Given the description of an element on the screen output the (x, y) to click on. 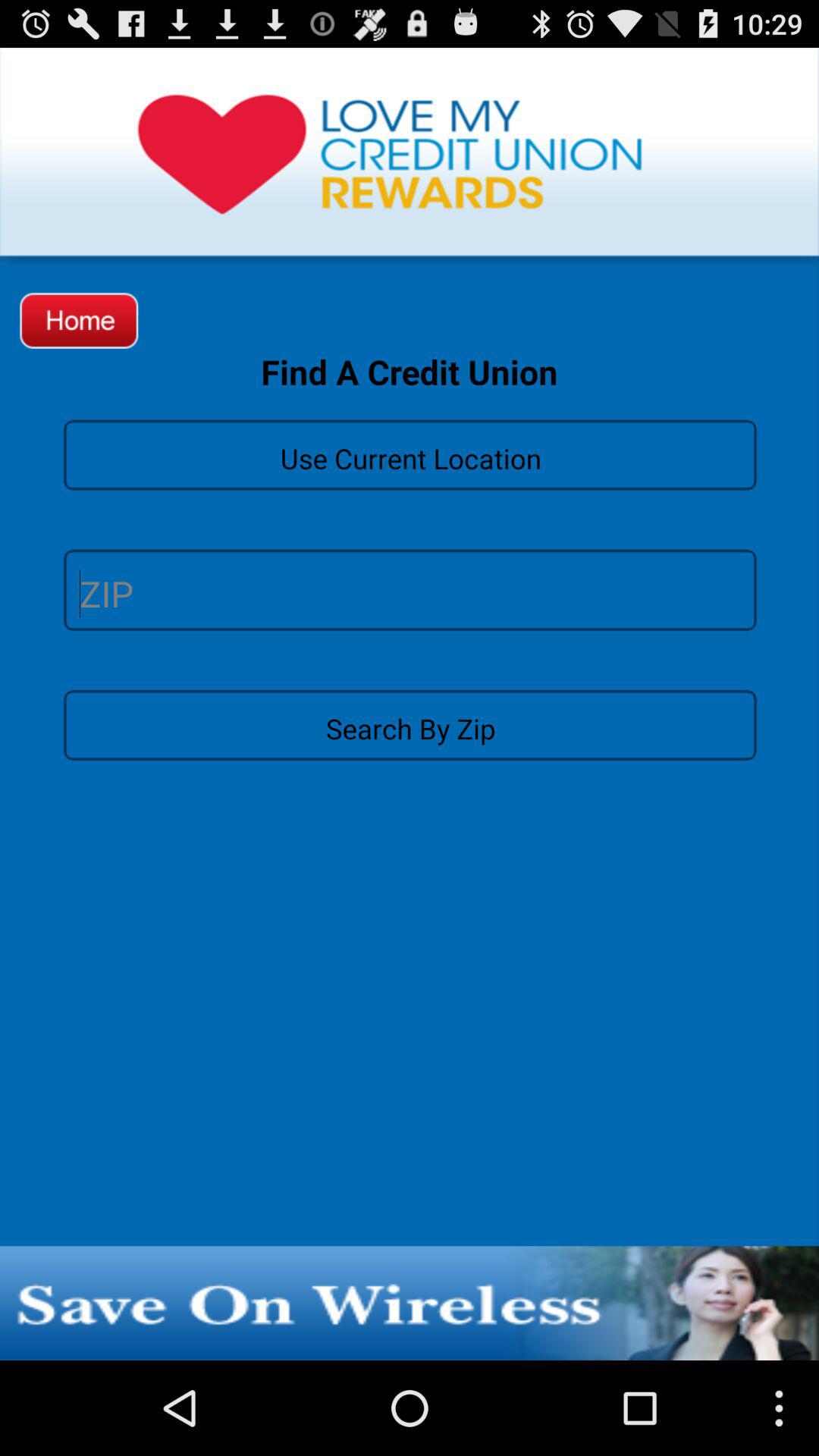
turn on item below find a credit app (409, 454)
